Given the description of an element on the screen output the (x, y) to click on. 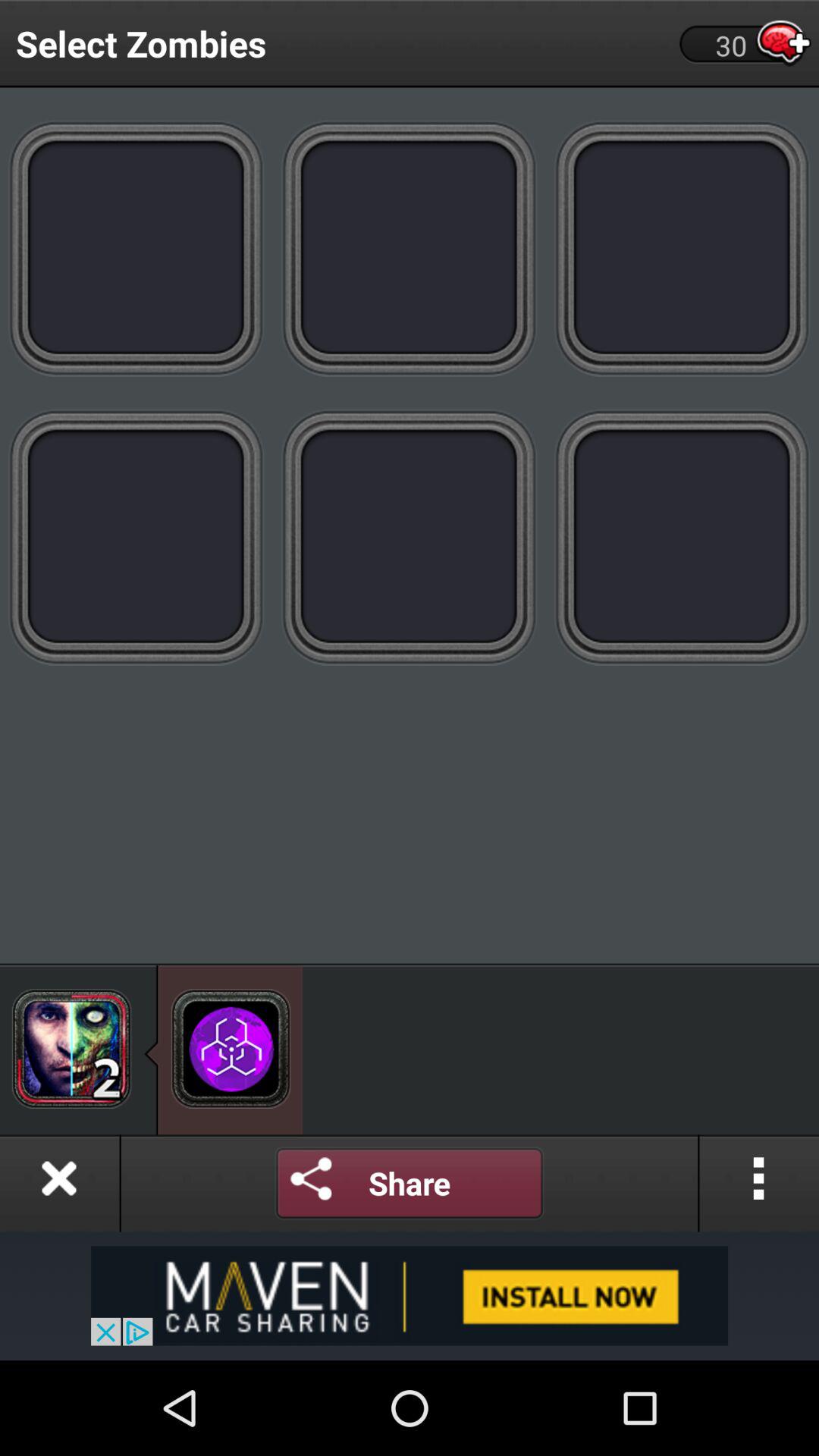
share game menu with others (409, 1183)
